Given the description of an element on the screen output the (x, y) to click on. 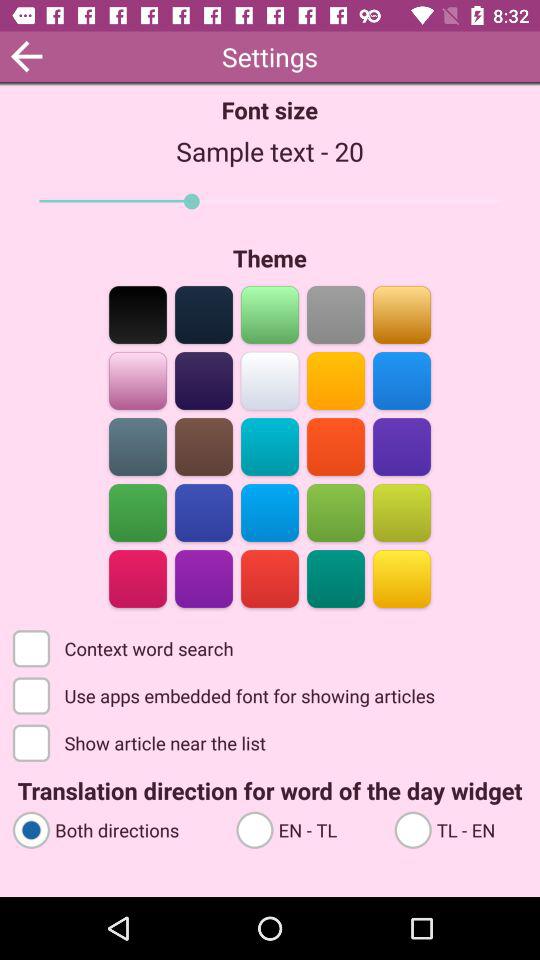
purple theme (401, 445)
